Given the description of an element on the screen output the (x, y) to click on. 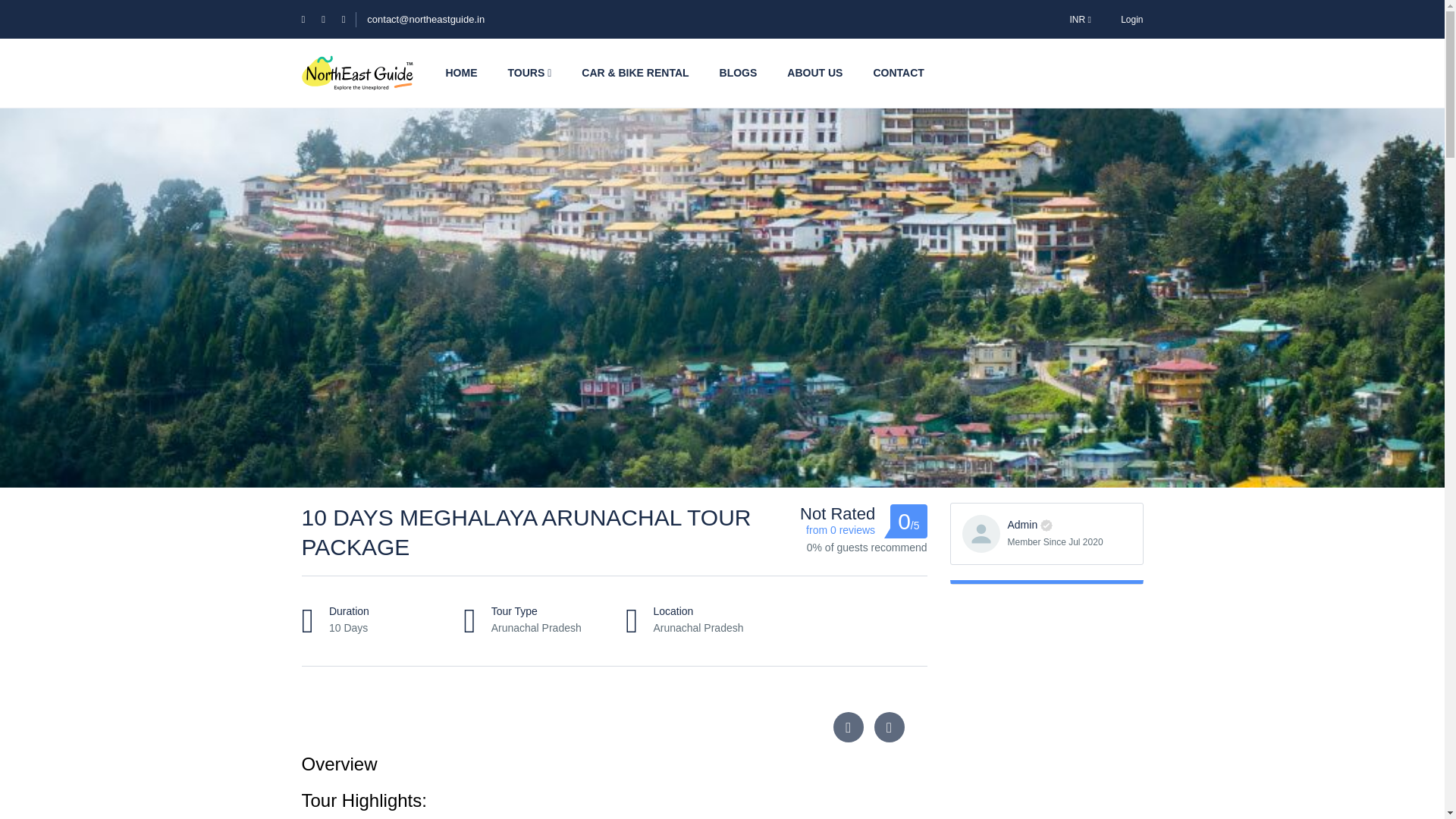
BLOGS (738, 72)
HOME (461, 72)
Login (1131, 18)
INR (1079, 18)
TOURS (530, 72)
CONTACT (898, 72)
Not verified (1046, 525)
ABOUT US (814, 72)
